Given the description of an element on the screen output the (x, y) to click on. 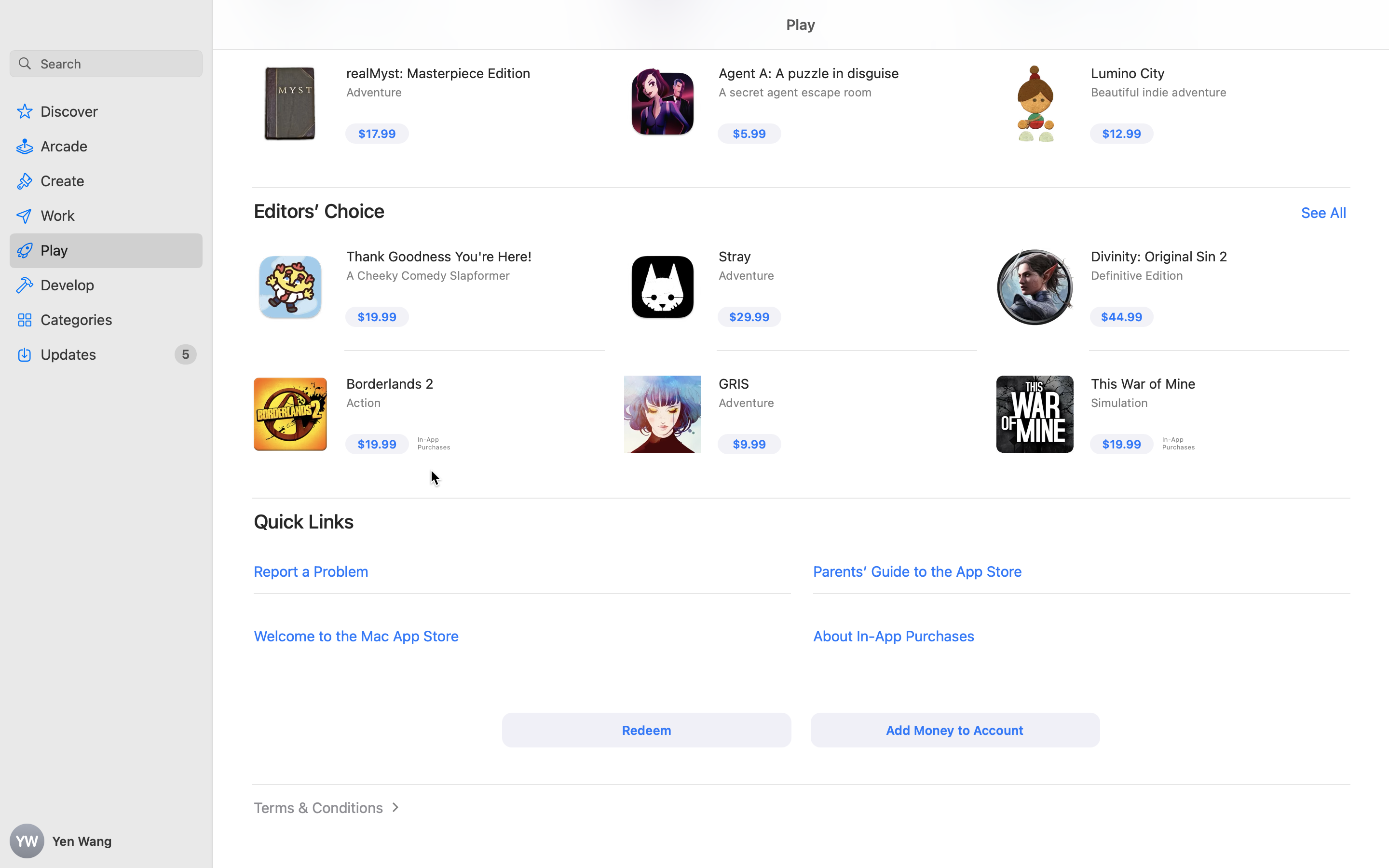
Yen Wang Element type: AXButton (106, 840)
Editors’ Choice Element type: AXStaticText (318, 210)
